Given the description of an element on the screen output the (x, y) to click on. 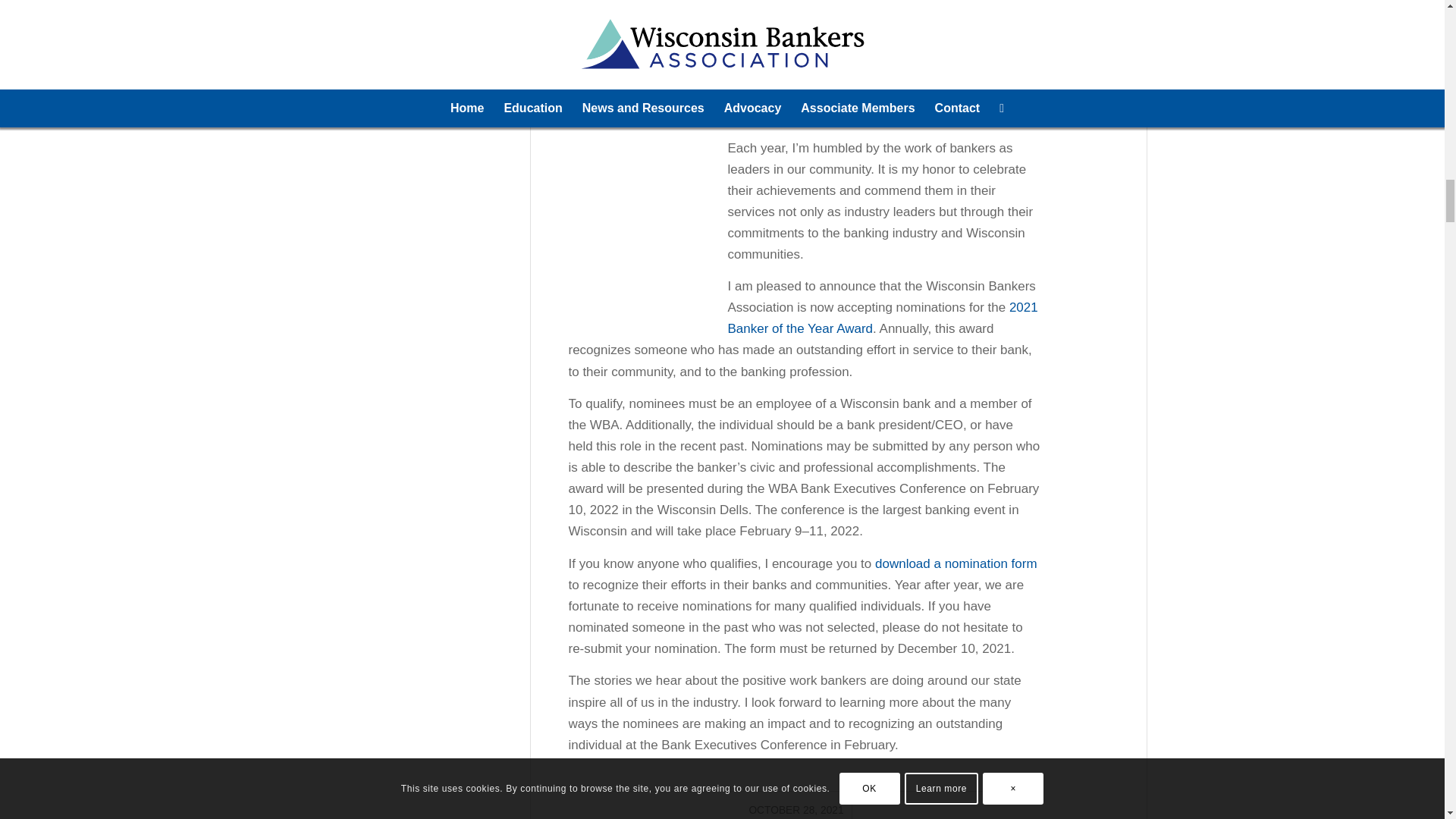
download a nomination form (955, 563)
NEWS (842, 1)
COMMUNITY (783, 1)
2021 Banker of the Year Award (883, 317)
